Given the description of an element on the screen output the (x, y) to click on. 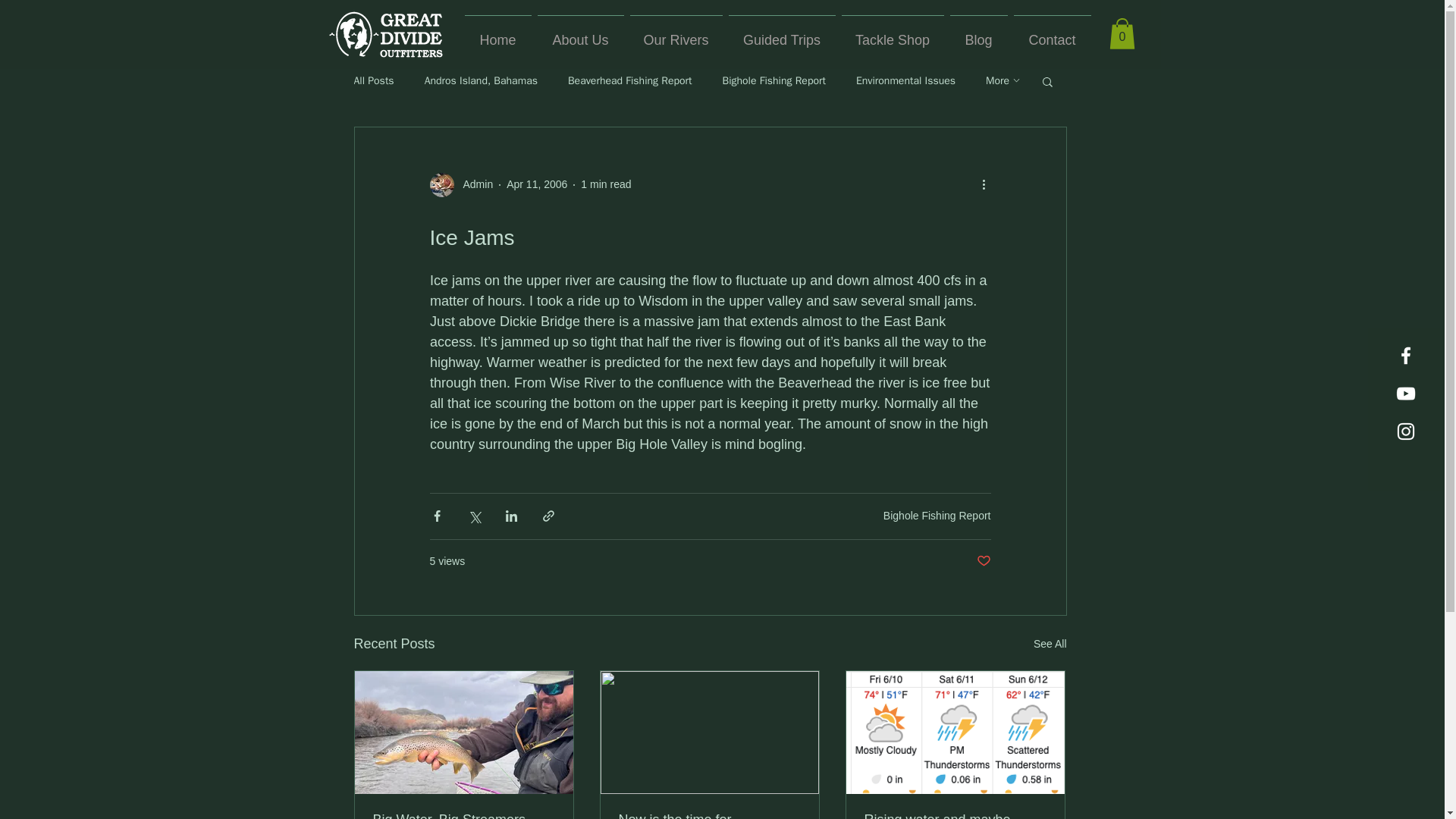
Now is the time for salmonflies! (709, 815)
Andros Island, Bahamas (481, 80)
Our Rivers (675, 33)
Bighole Fishing Report (773, 80)
Tackle Shop (892, 33)
Post not marked as liked (983, 561)
1 min read (605, 184)
Blog (978, 33)
All Posts (373, 80)
Admin (472, 184)
